Given the description of an element on the screen output the (x, y) to click on. 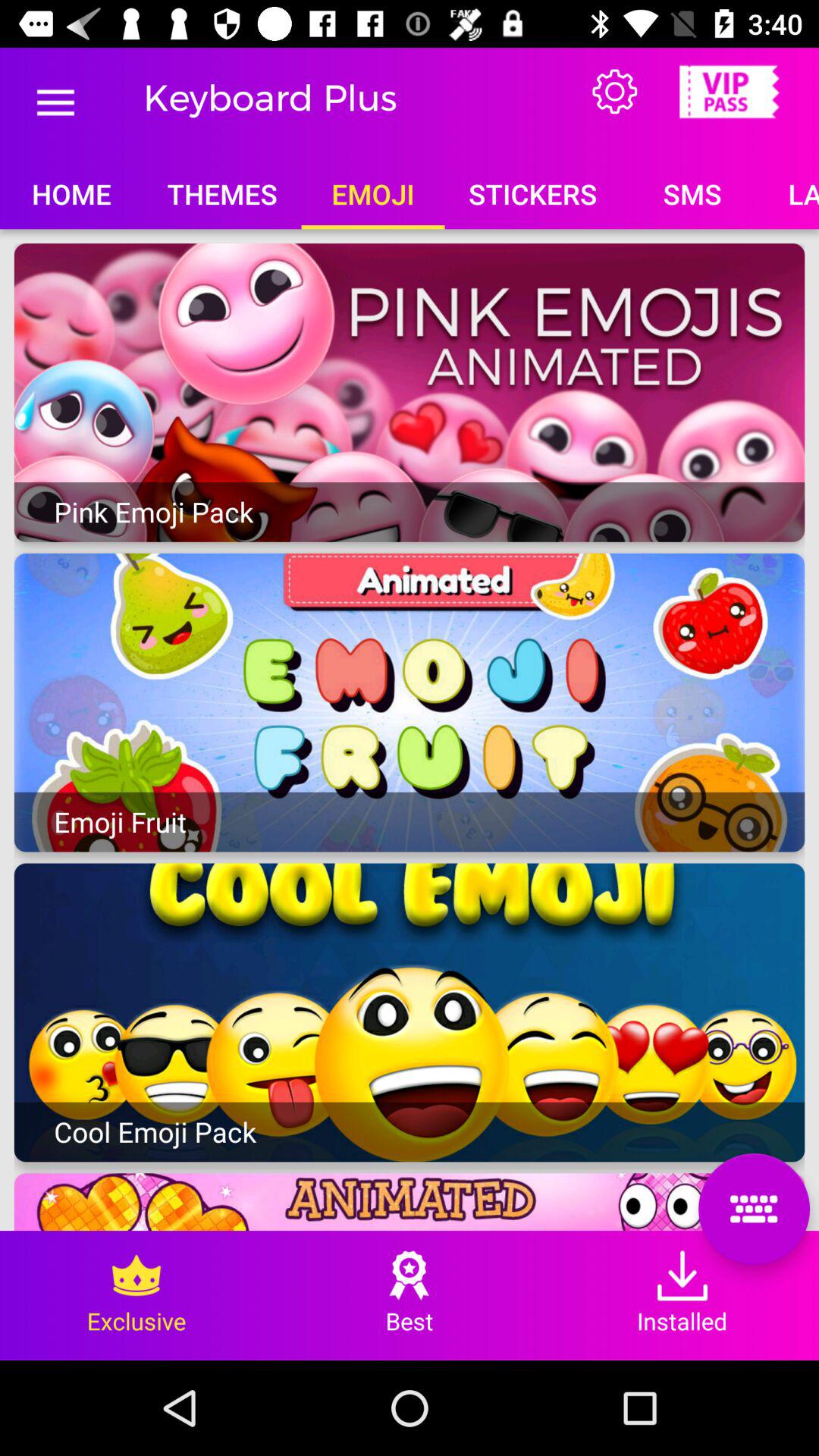
go to the icon which is just above the best (409, 1275)
click the icon above the installed icon (753, 1209)
click on the crown icon above exclusive (136, 1275)
